Given the description of an element on the screen output the (x, y) to click on. 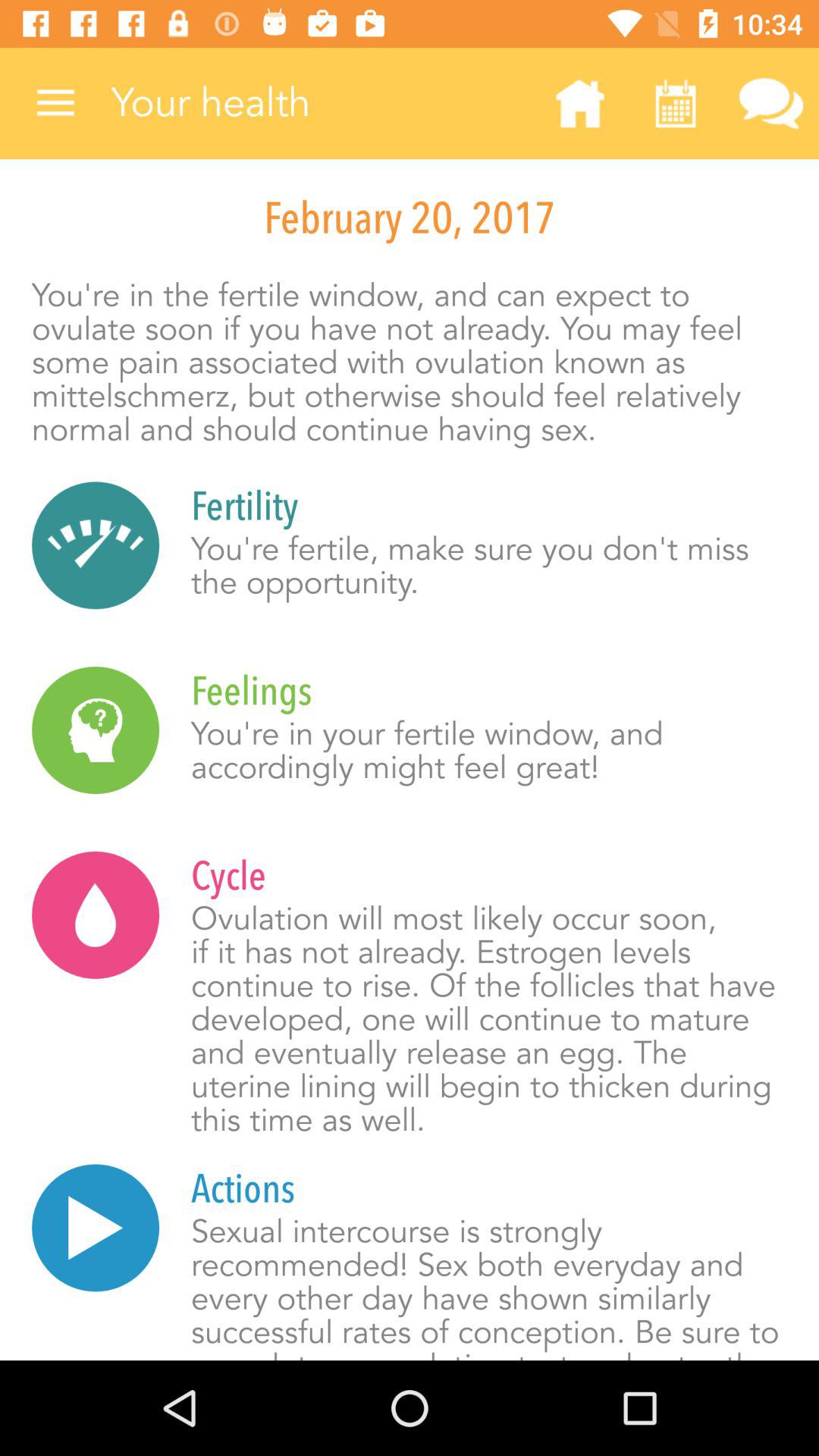
turn on the icon to the left of your health (55, 103)
